Given the description of an element on the screen output the (x, y) to click on. 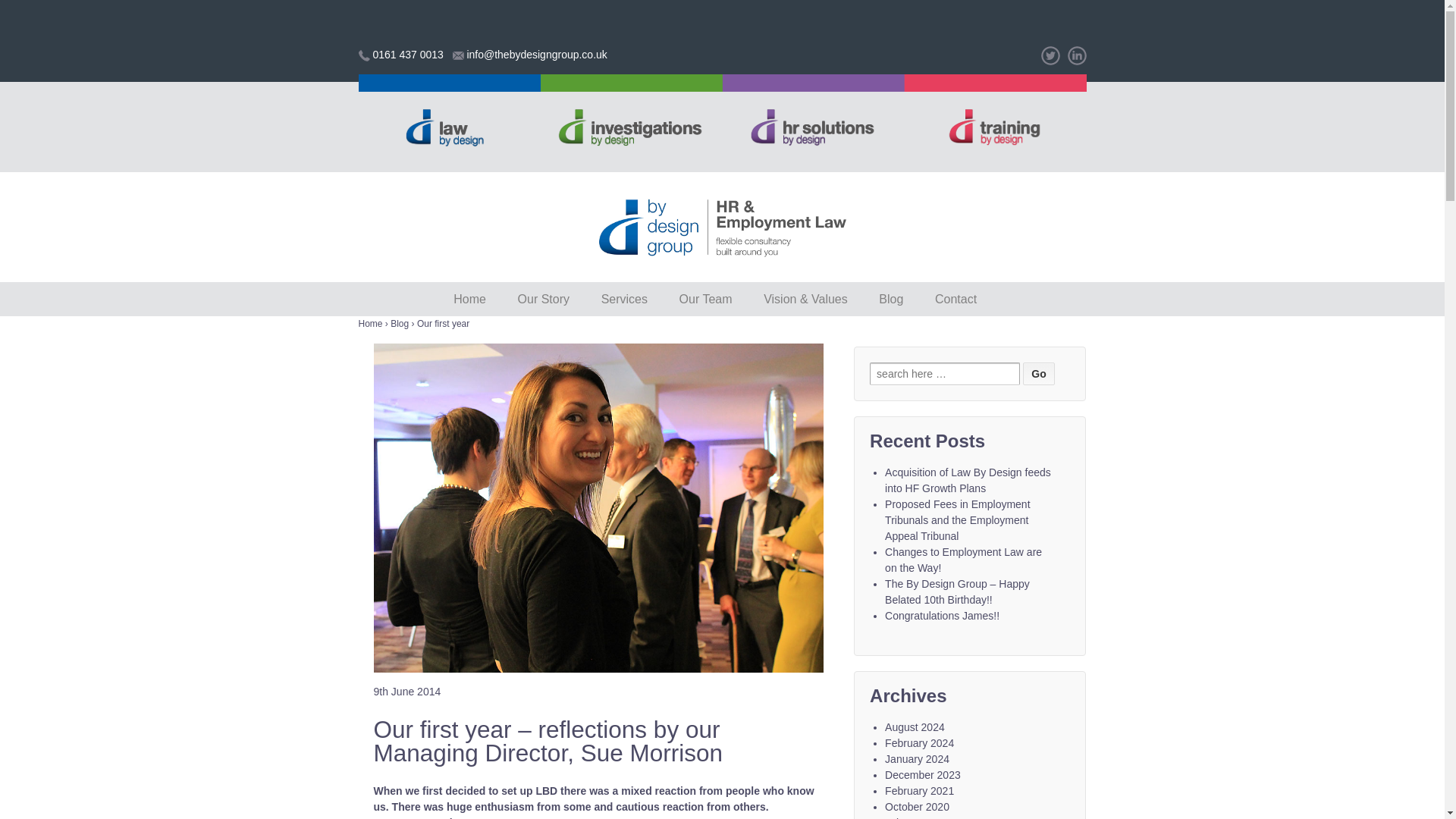
Go (1038, 373)
Acquisition of Law By Design feeds into HF Growth Plans (968, 480)
investigations by design (631, 81)
Services (624, 298)
Home (470, 298)
Blog (399, 323)
Our Team (705, 298)
hr solutions by design (813, 81)
Contact (955, 298)
training by design (995, 81)
